Given the description of an element on the screen output the (x, y) to click on. 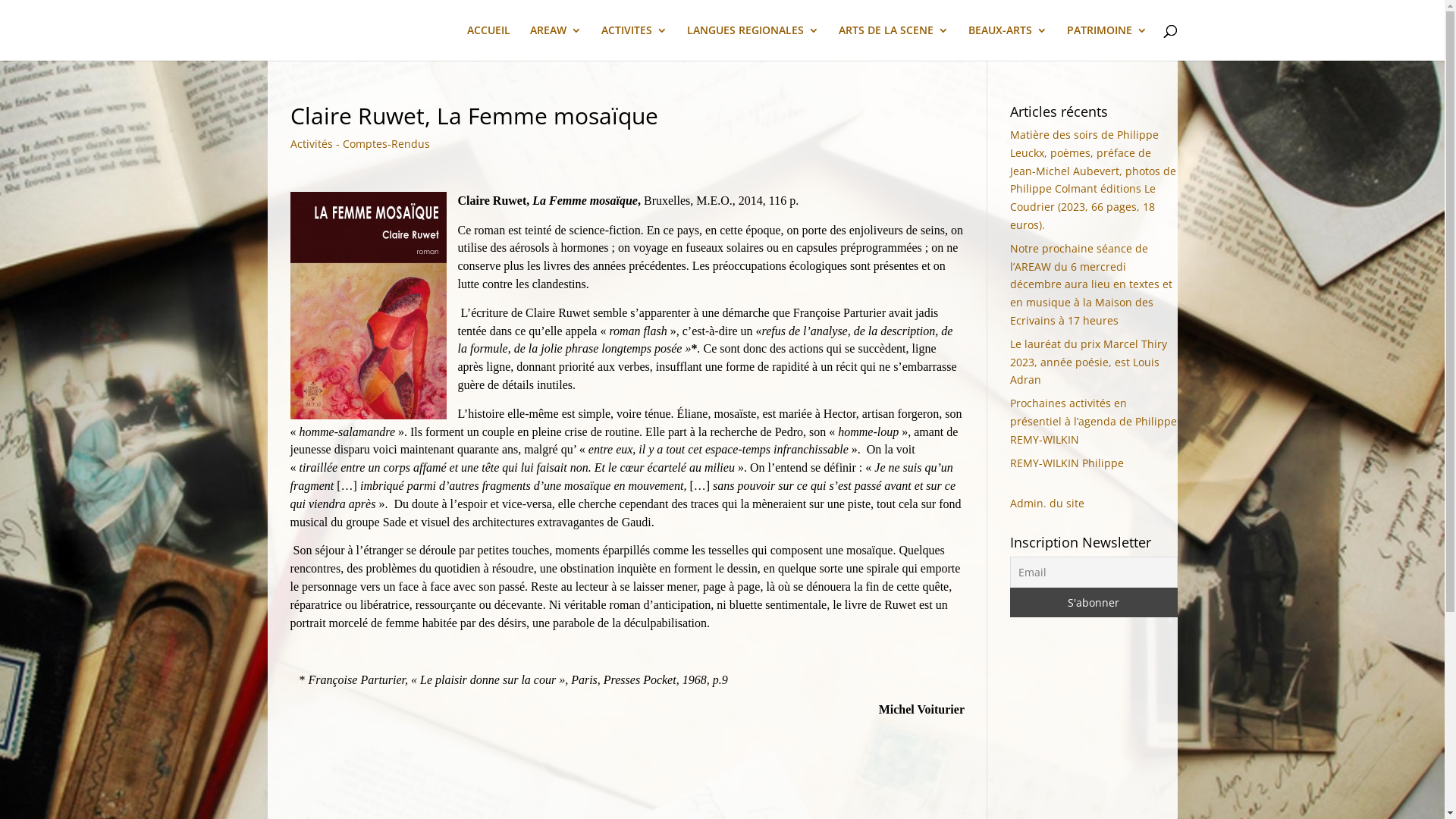
ACCUEIL Element type: text (488, 42)
REMY-WILKIN Philippe Element type: text (1066, 462)
BEAUX-ARTS Element type: text (1006, 42)
ARTS DE LA SCENE Element type: text (893, 42)
PATRIMOINE Element type: text (1106, 42)
LANGUES REGIONALES Element type: text (753, 42)
Admin. du site Element type: text (1047, 502)
AREAW Element type: text (554, 42)
S'abonner Element type: text (1093, 602)
ACTIVITES Element type: text (633, 42)
